Given the description of an element on the screen output the (x, y) to click on. 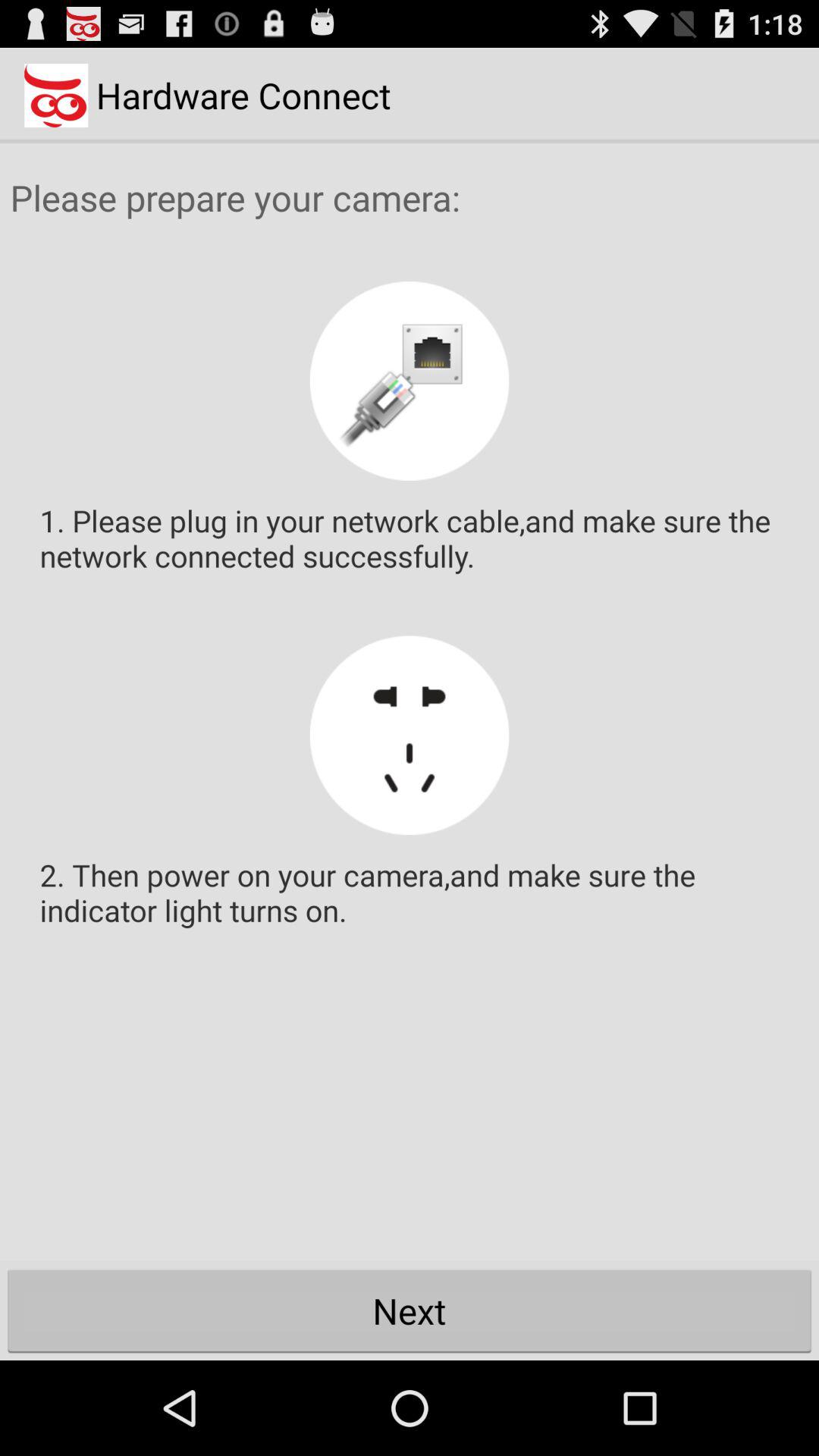
jump to next item (409, 1310)
